Given the description of an element on the screen output the (x, y) to click on. 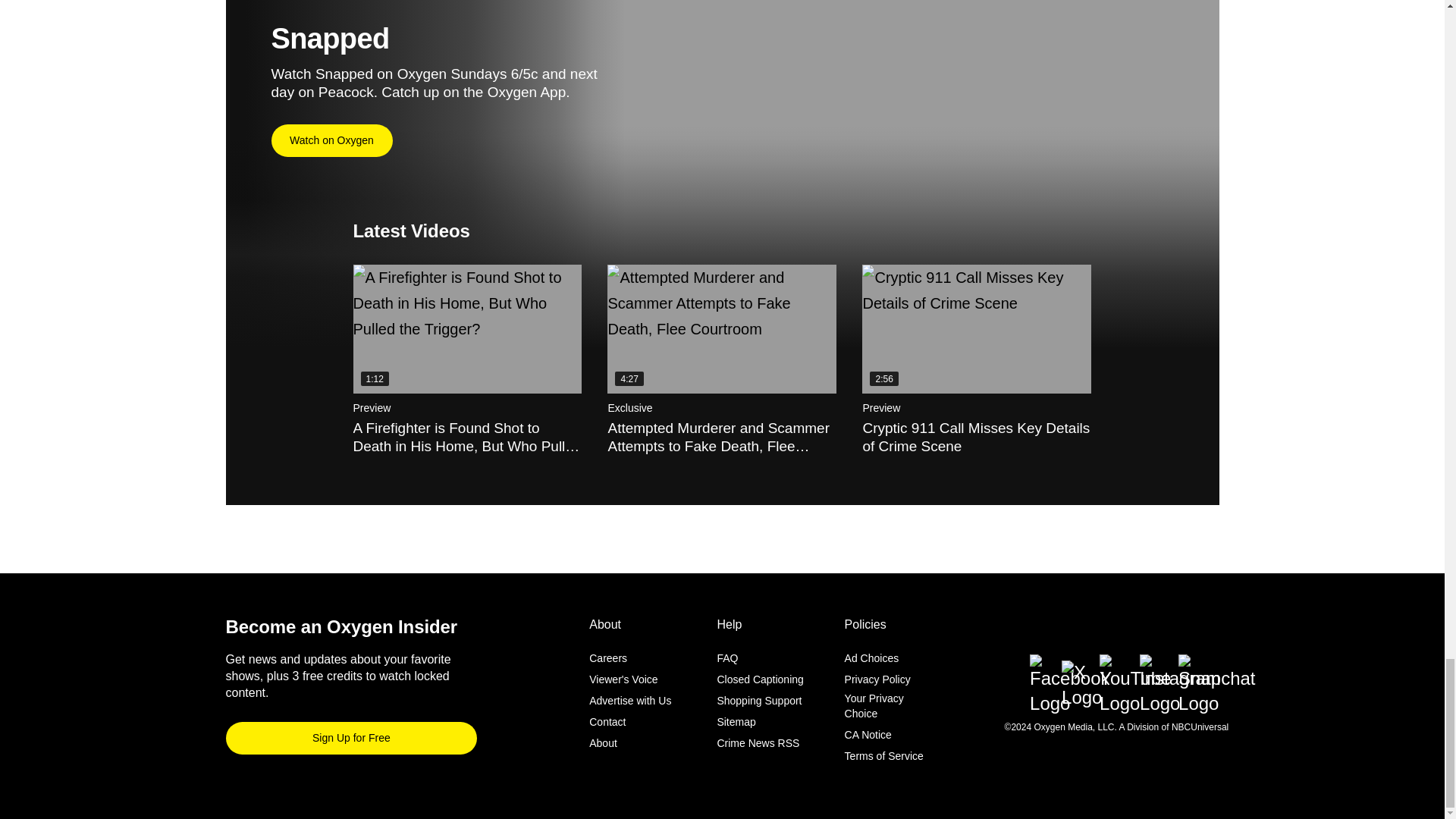
Advertise with Us (630, 700)
Watch on Oxygen (331, 140)
Careers (608, 657)
Sign Up for Free (351, 737)
Cryptic 911 Call Misses Key Details of Crime Scene (975, 328)
